Given the description of an element on the screen output the (x, y) to click on. 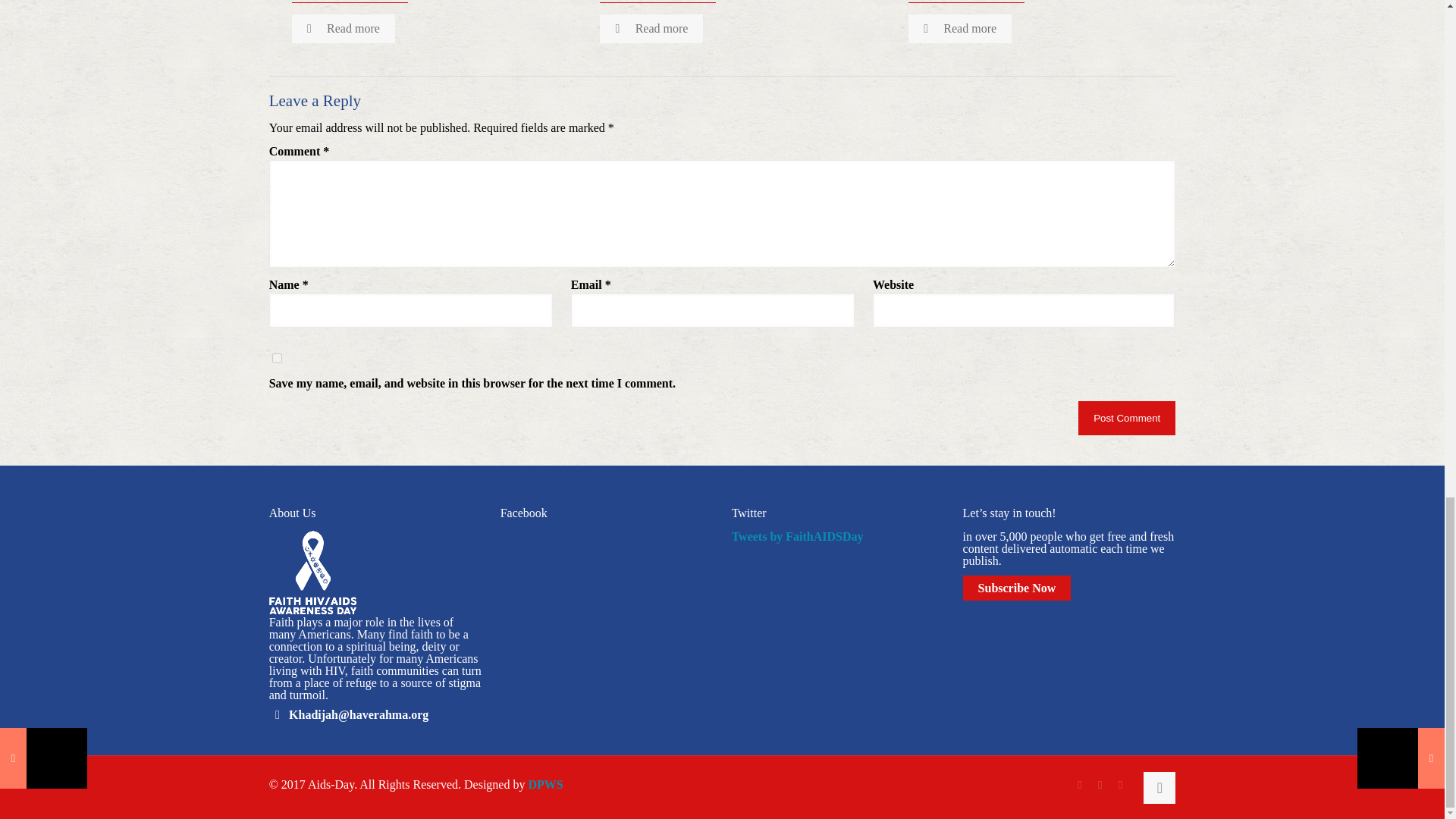
Post Comment (1126, 417)
Twitter (1100, 784)
Facebook (1079, 784)
Instagram (1120, 784)
